Given the description of an element on the screen output the (x, y) to click on. 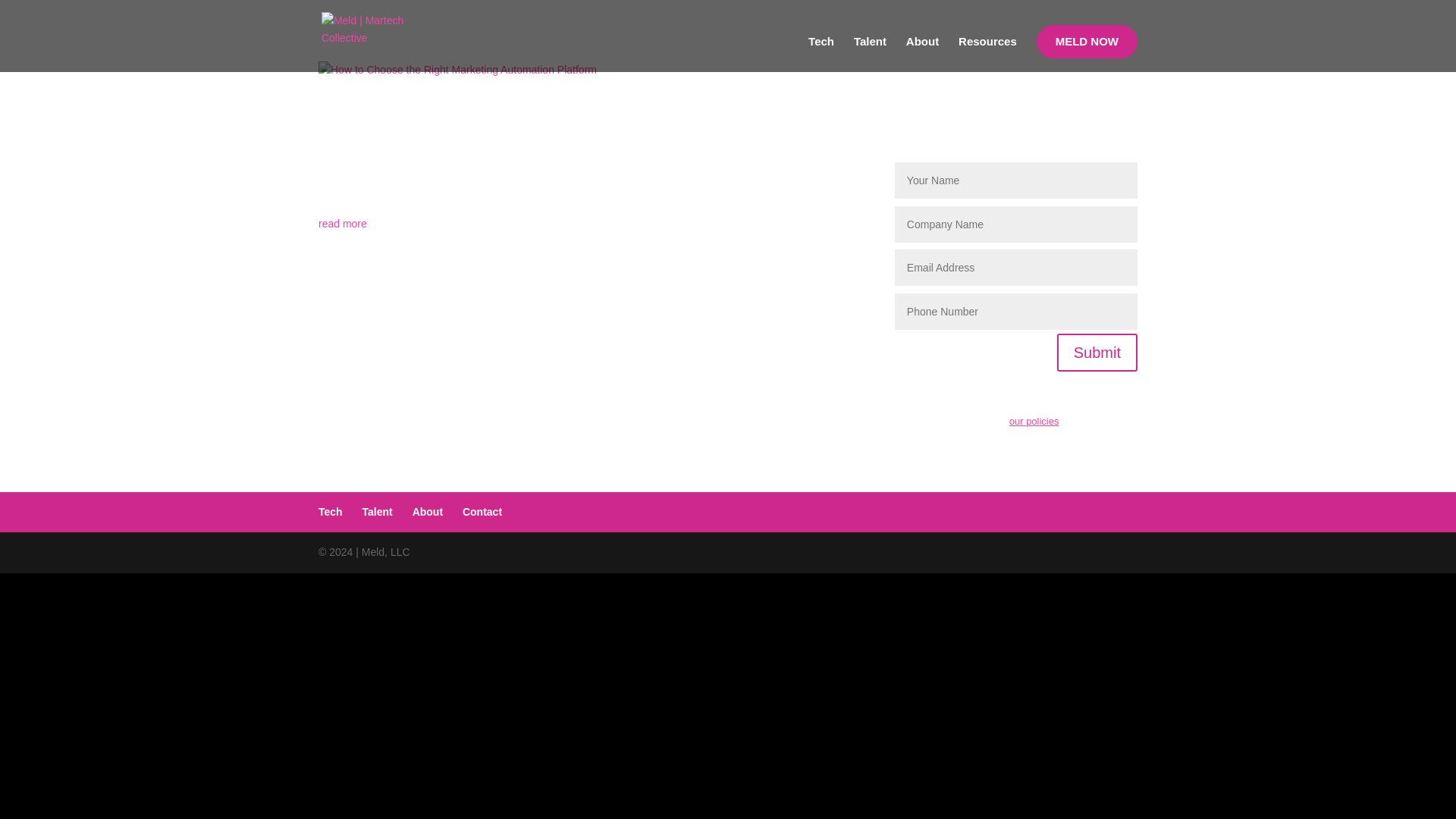
Talent (377, 511)
How to Choose the Right Marketing Automation Platform (536, 127)
About (427, 511)
Talent (869, 54)
Submit (1097, 352)
About (922, 54)
Tech (821, 54)
MELD NOW (1086, 41)
our policies (1034, 420)
read more (583, 224)
Tech (330, 511)
Contact (482, 511)
Resources (987, 54)
